Given the description of an element on the screen output the (x, y) to click on. 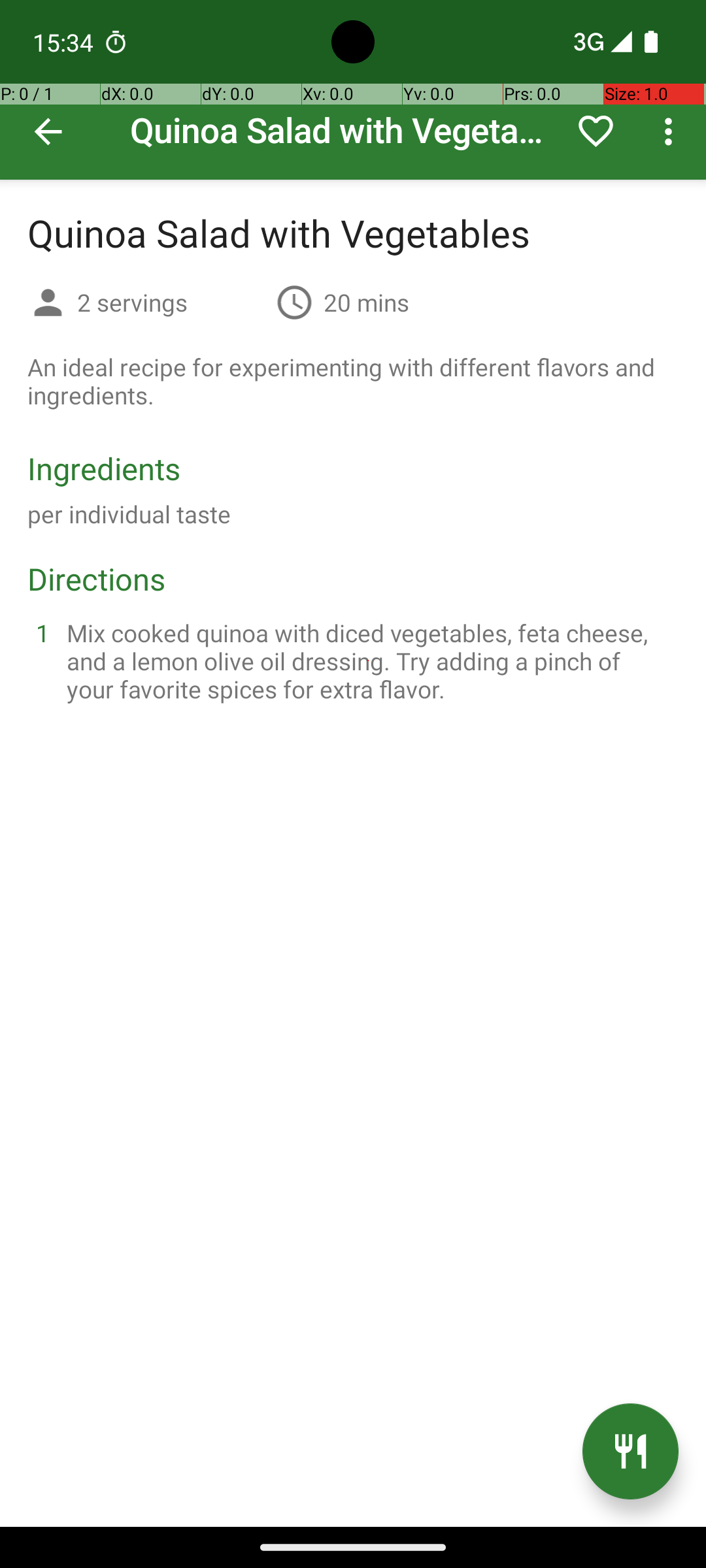
Mix cooked quinoa with diced vegetables, feta cheese, and a lemon olive oil dressing. Try adding a pinch of your favorite spices for extra flavor. Element type: android.widget.TextView (368, 660)
